Given the description of an element on the screen output the (x, y) to click on. 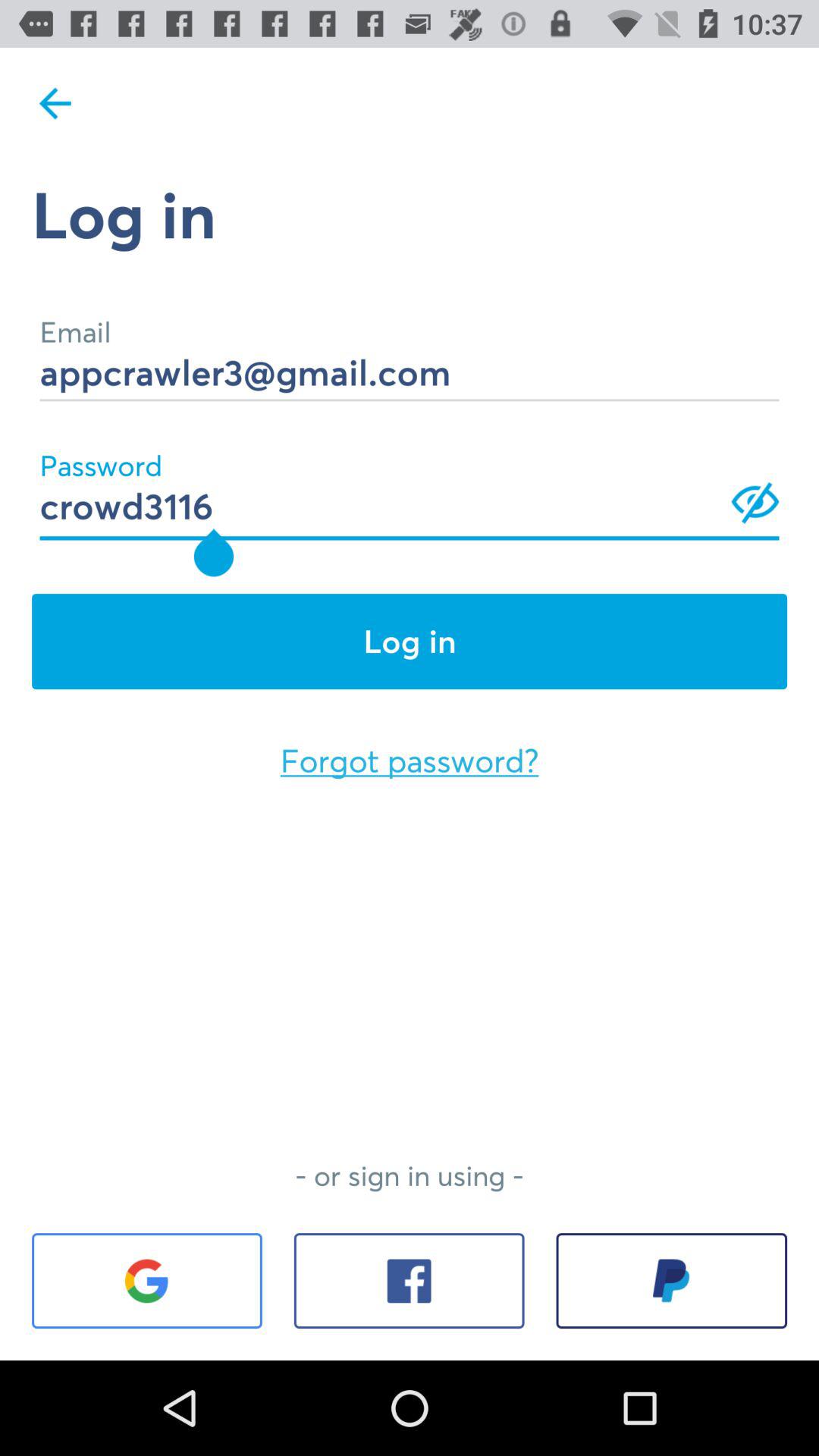
press the item below the or sign in item (671, 1280)
